Given the description of an element on the screen output the (x, y) to click on. 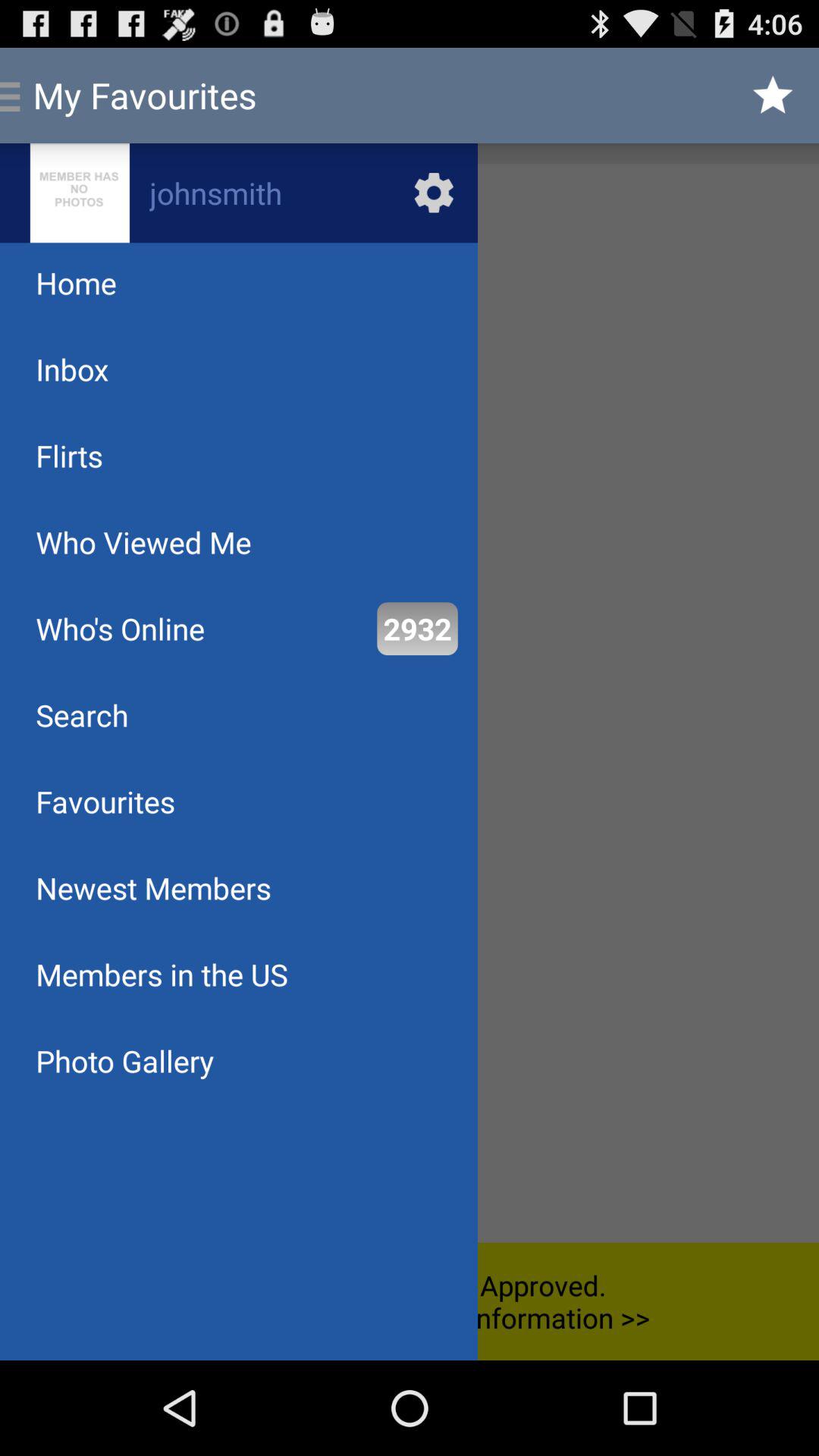
open flirts icon (68, 455)
